Given the description of an element on the screen output the (x, y) to click on. 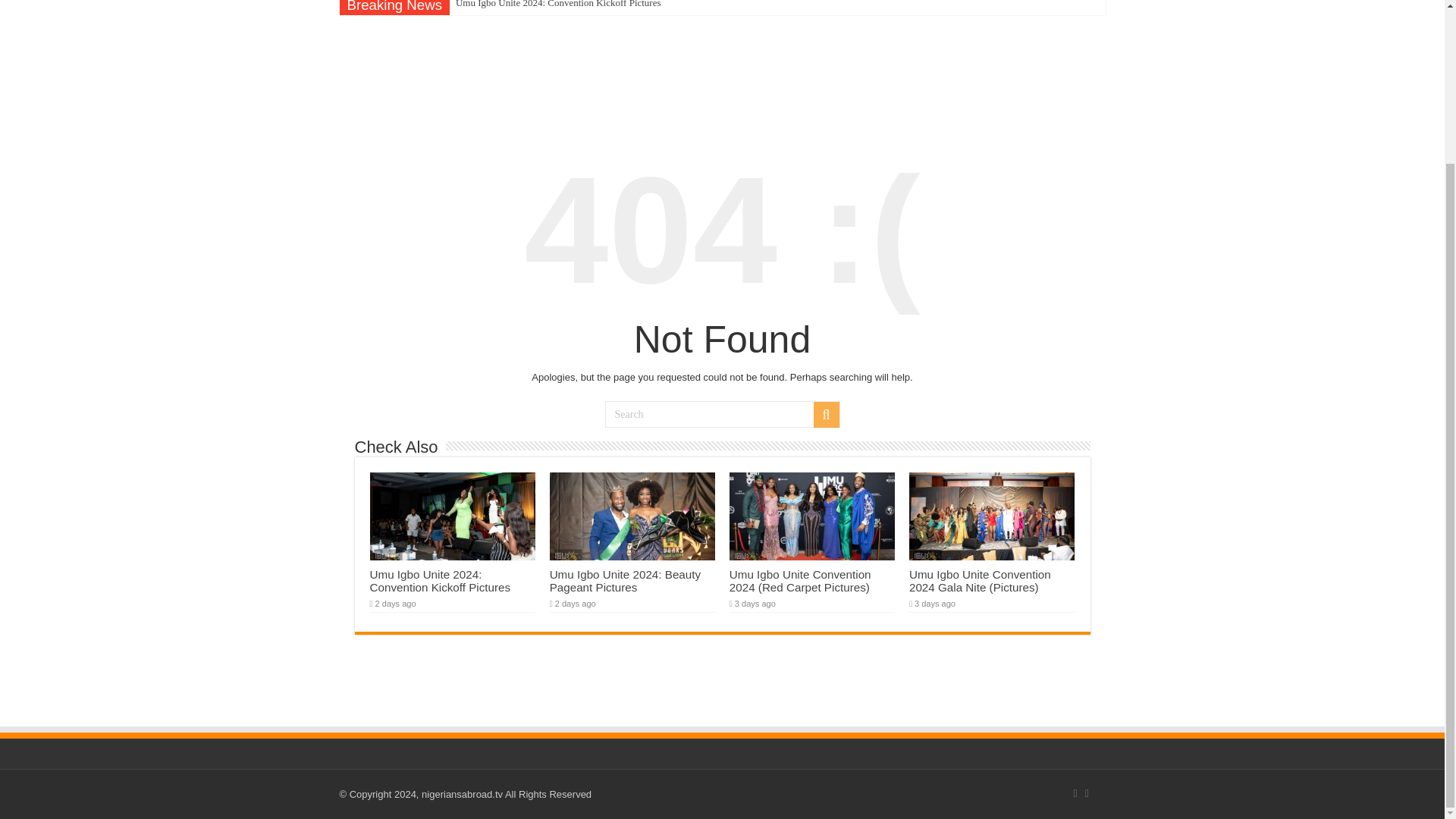
Search (825, 414)
Umu Igbo Unite 2024: Convention Kickoff Pictures (557, 7)
Search (722, 414)
Umu Igbo Unite 2024: Convention Kickoff Pictures (440, 580)
Umu Igbo Unite 2024: Convention Kickoff Pictures (557, 7)
